Given the description of an element on the screen output the (x, y) to click on. 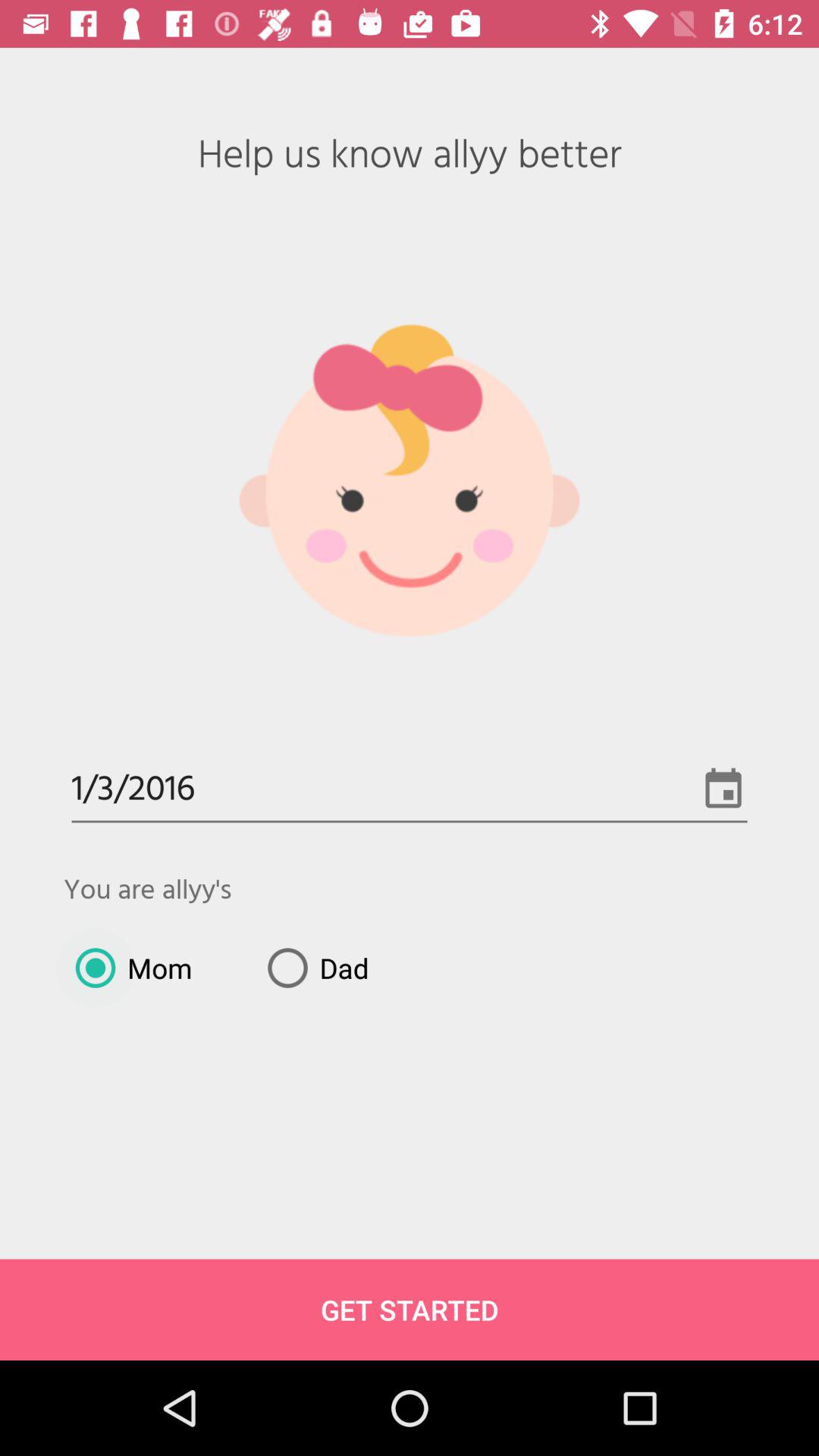
press icon above the get started icon (127, 967)
